Given the description of an element on the screen output the (x, y) to click on. 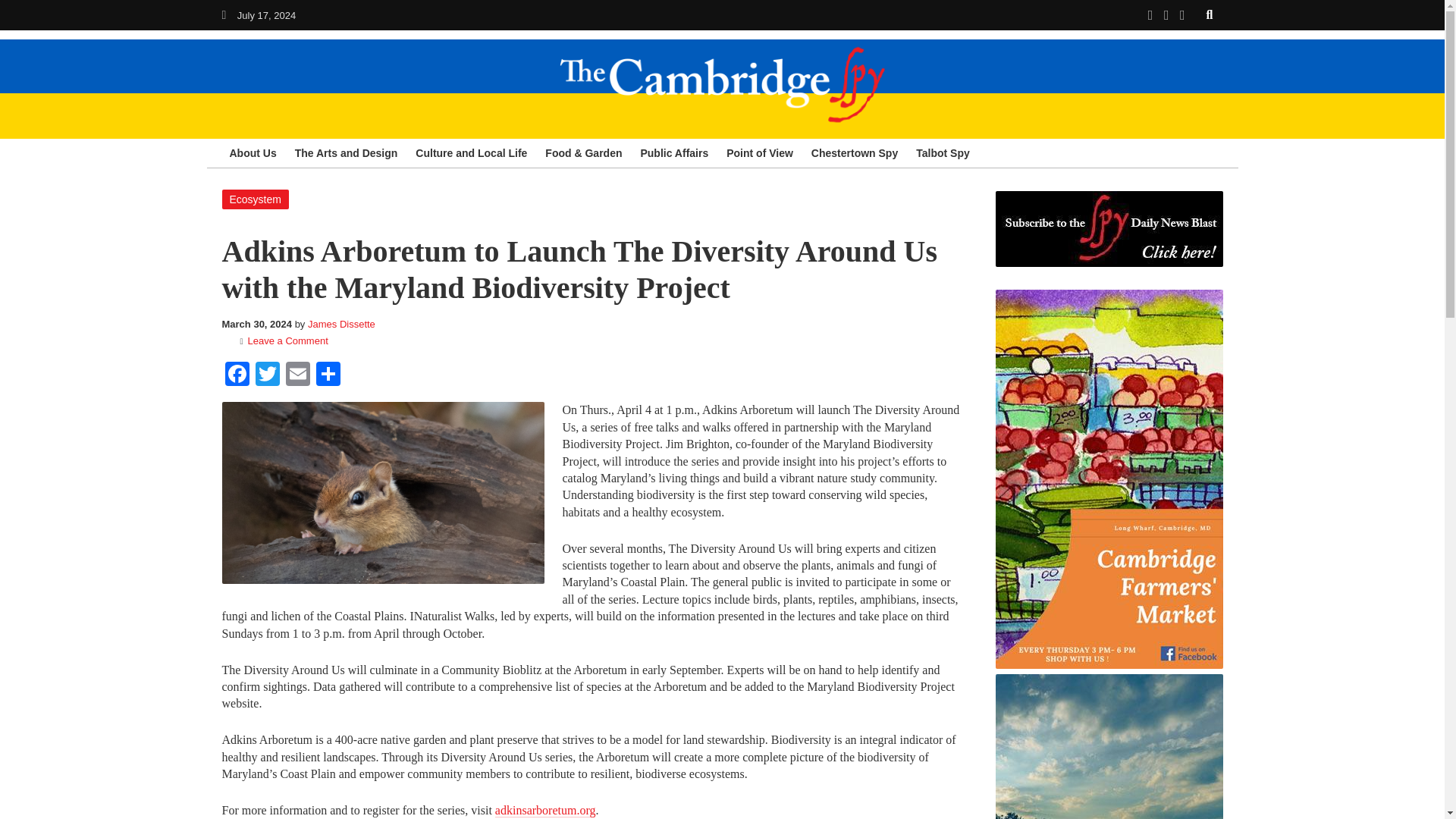
About Us (252, 153)
The Arts and Design (346, 153)
Facebook (236, 375)
Back to Cambridge Spy Homepage (223, 14)
Twitter (266, 375)
Search (1209, 14)
Email (297, 375)
Search (1209, 14)
Cambridge Spy (721, 84)
Search (1209, 14)
